Given the description of an element on the screen output the (x, y) to click on. 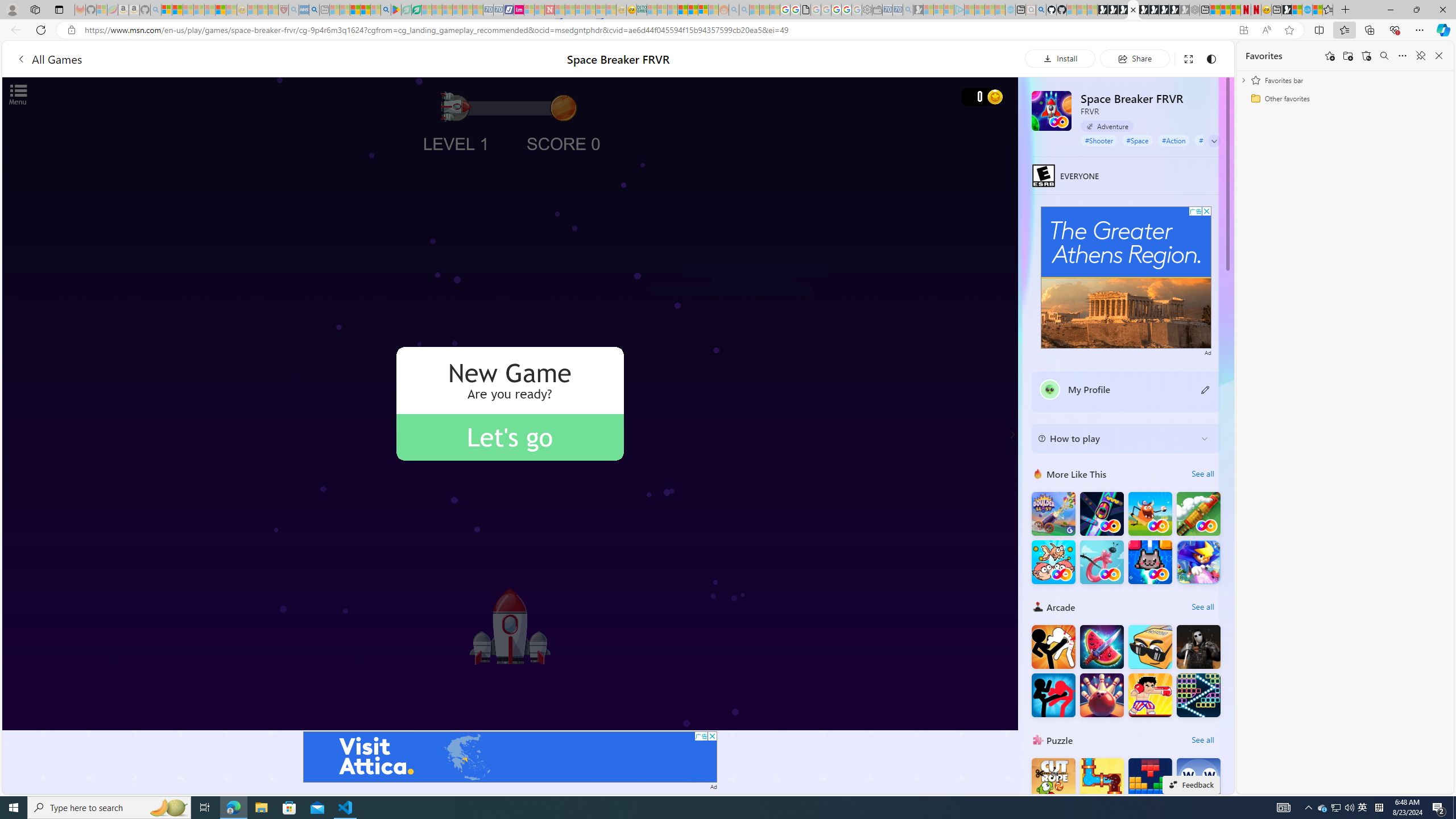
Unpin favorites (1420, 55)
Kitten Force FRVR (1149, 562)
Share (1134, 58)
AutomationID: gameCanvas (509, 403)
Class: expand-arrow neutral (1214, 141)
How to play (1116, 438)
Stickman fighter : Epic battle (1053, 694)
All Games (216, 58)
